Given the description of an element on the screen output the (x, y) to click on. 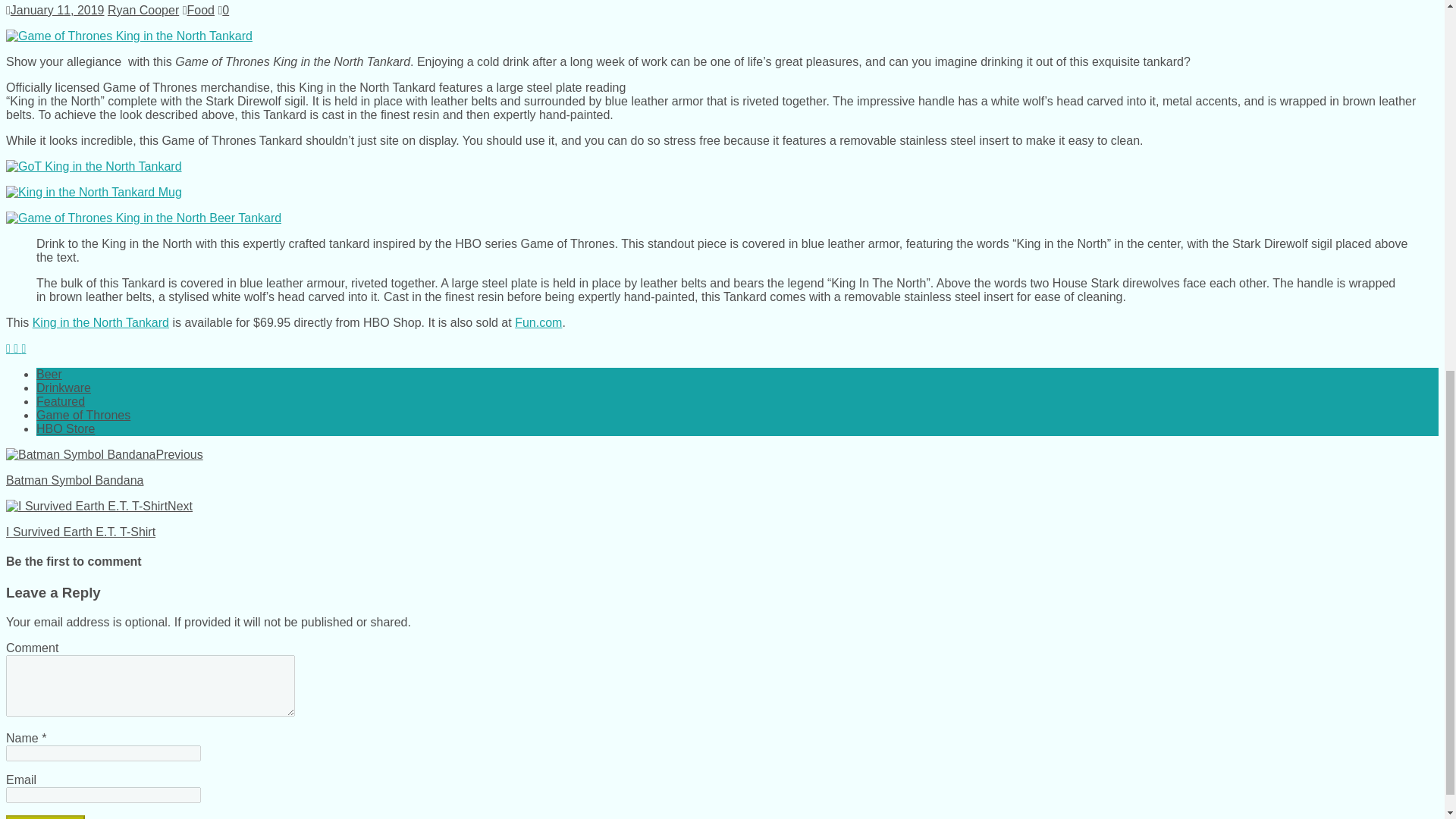
Send this article to a friend (23, 348)
Share on LinkedIn (17, 348)
Share on Facebook (9, 348)
